Given the description of an element on the screen output the (x, y) to click on. 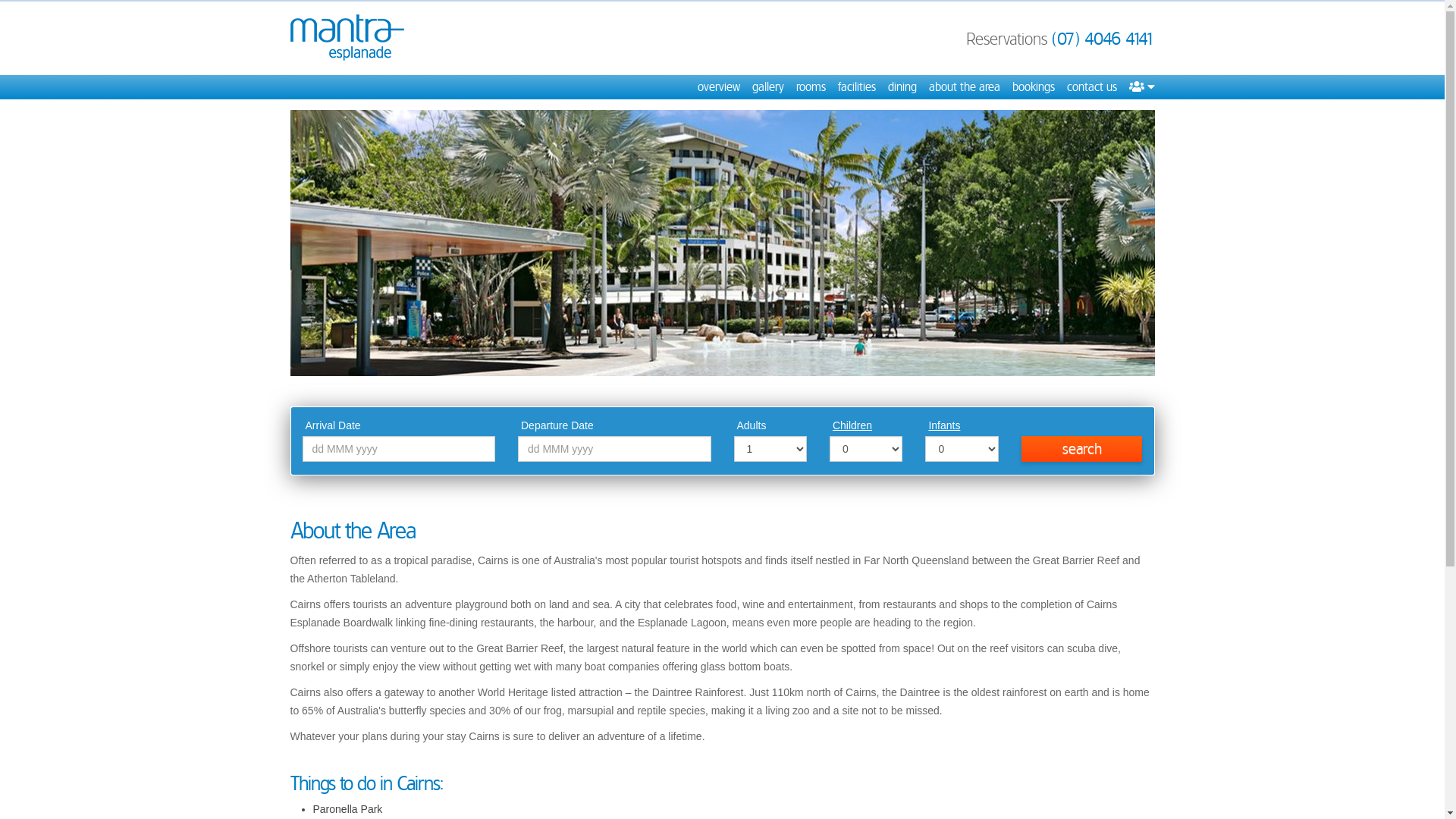
contact us Element type: text (1091, 87)
rooms Element type: text (810, 87)
search Element type: text (1081, 448)
bookings Element type: text (1032, 87)
dining Element type: text (901, 87)
gallery Element type: text (768, 87)
about the area Element type: text (963, 87)
Cairns Esplanade - Mantra Esplanade Element type: hover (721, 242)
facilities Element type: text (856, 87)
Mantra Esplanade Cairns Element type: hover (346, 37)
overview Element type: text (718, 87)
(07) 4046 4141 Element type: text (1102, 38)
